Given the description of an element on the screen output the (x, y) to click on. 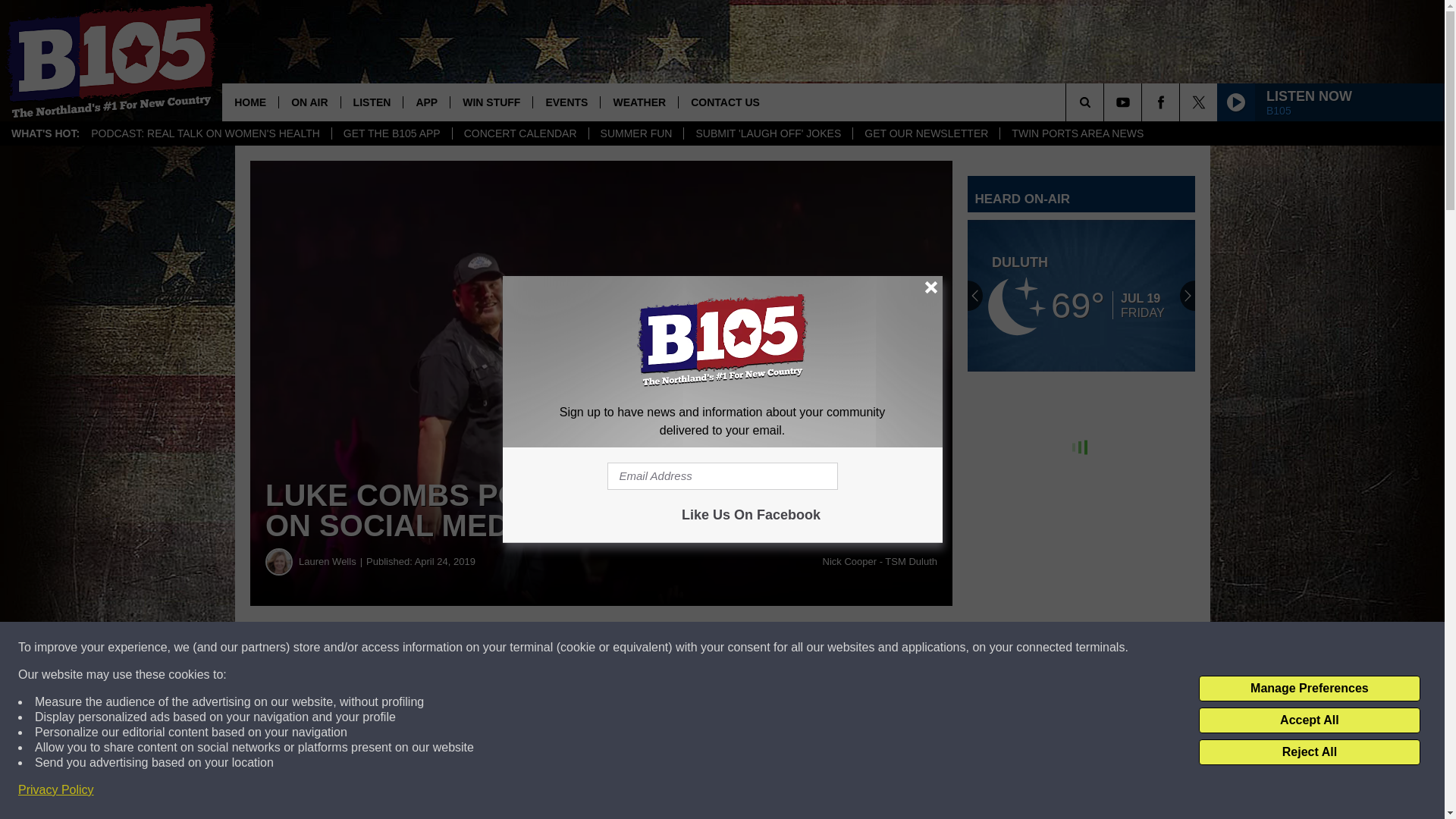
TWIN PORTS AREA NEWS (1076, 133)
SEARCH (1106, 102)
Share on Facebook (460, 647)
PODCAST: REAL TALK ON WOMEN'S HEALTH (205, 133)
SEARCH (1106, 102)
APP (426, 102)
CONCERT CALENDAR (519, 133)
Duluth Weather (1081, 295)
SUMMER FUN (636, 133)
GET OUR NEWSLETTER (924, 133)
Share on Twitter (741, 647)
Reject All (1309, 751)
HOME (250, 102)
Email Address (722, 475)
LISTEN (371, 102)
